Given the description of an element on the screen output the (x, y) to click on. 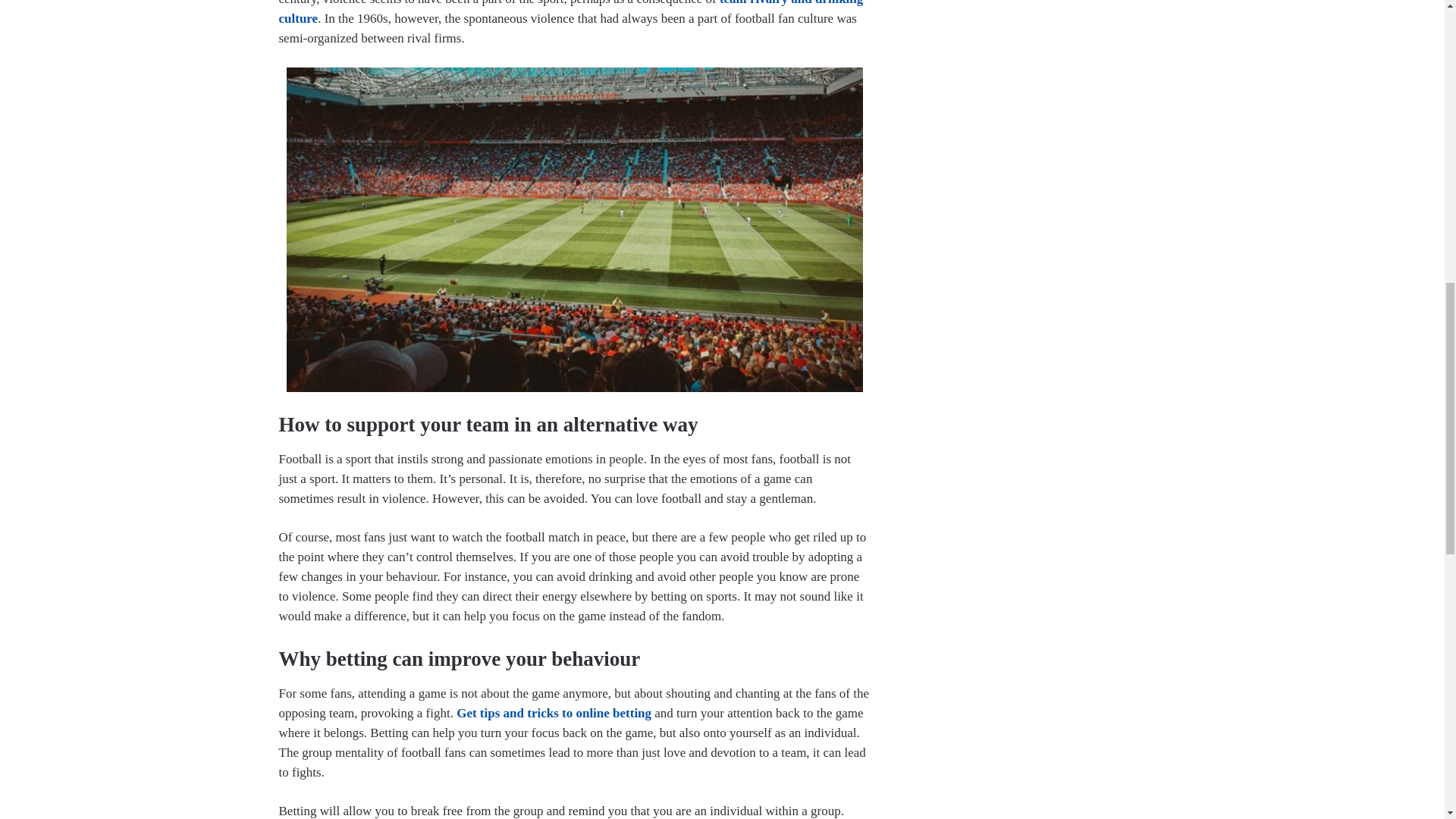
team rivalry and drinking culture (571, 12)
Get tips and tricks to online betting (553, 712)
